Given the description of an element on the screen output the (x, y) to click on. 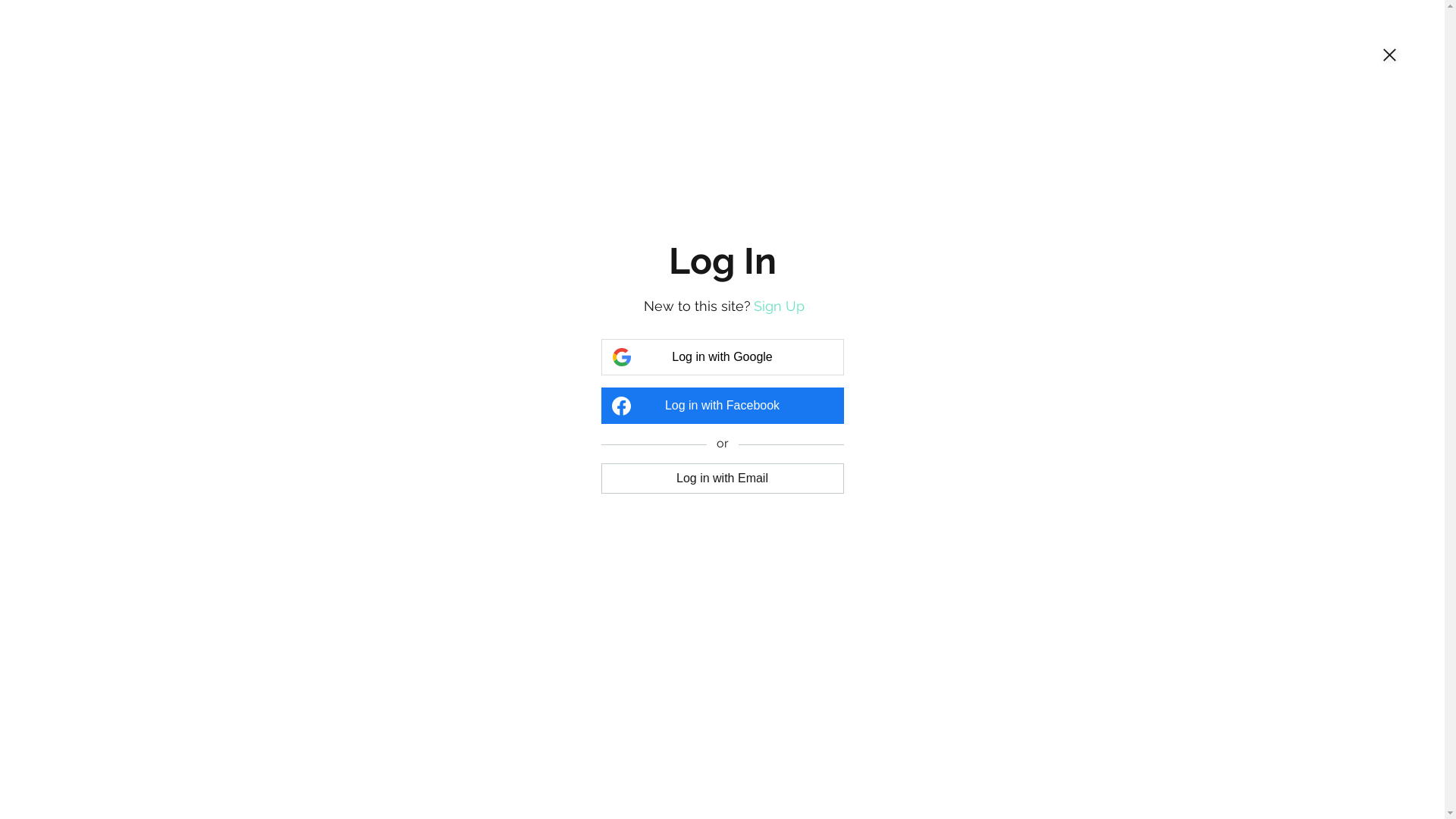
Log in with Facebook Element type: text (721, 405)
Log in with Google Element type: text (721, 356)
Sign Up Element type: text (778, 305)
Log in with Email Element type: text (721, 478)
